Given the description of an element on the screen output the (x, y) to click on. 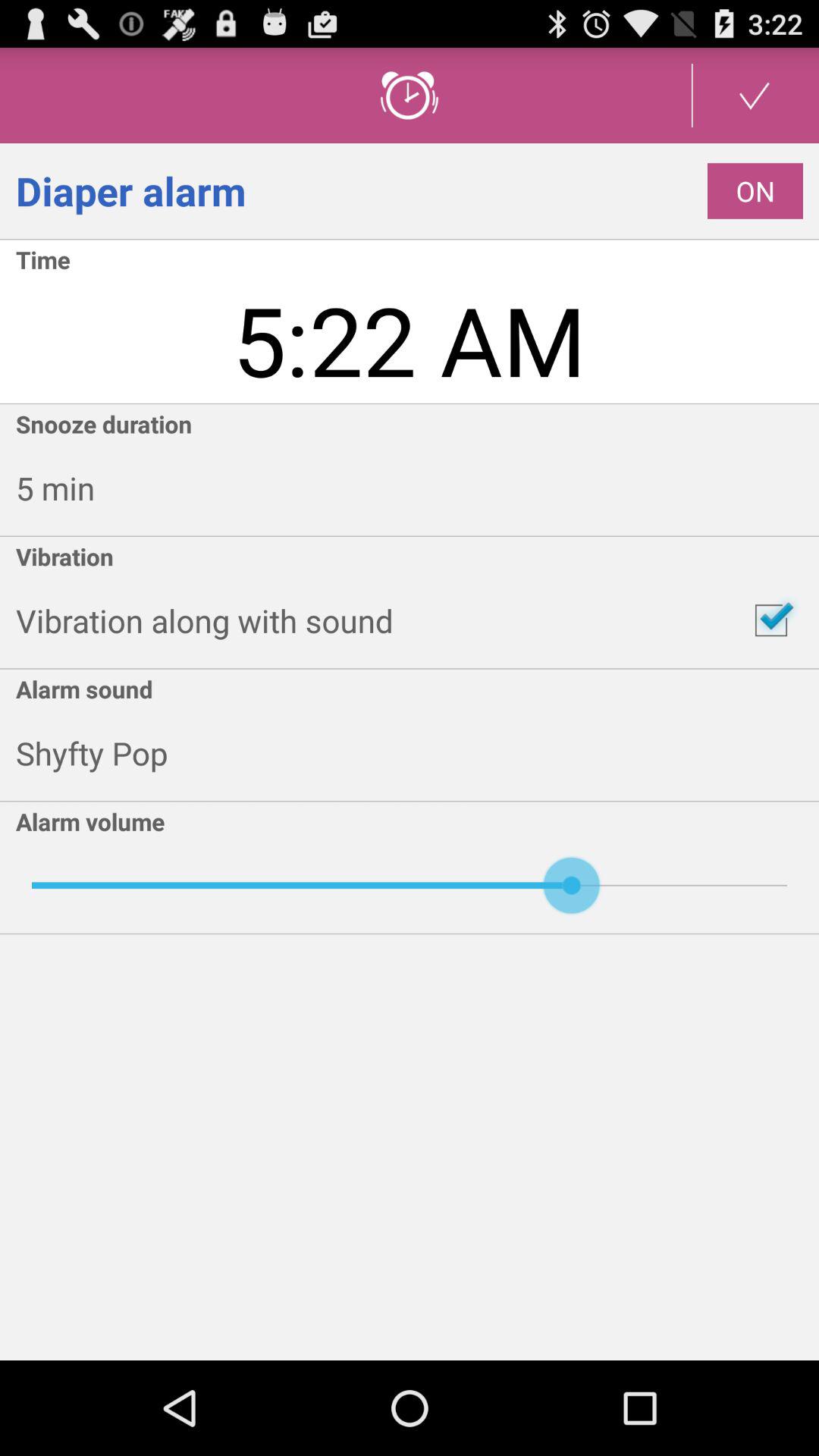
toggle vibration along with sound (771, 620)
